Given the description of an element on the screen output the (x, y) to click on. 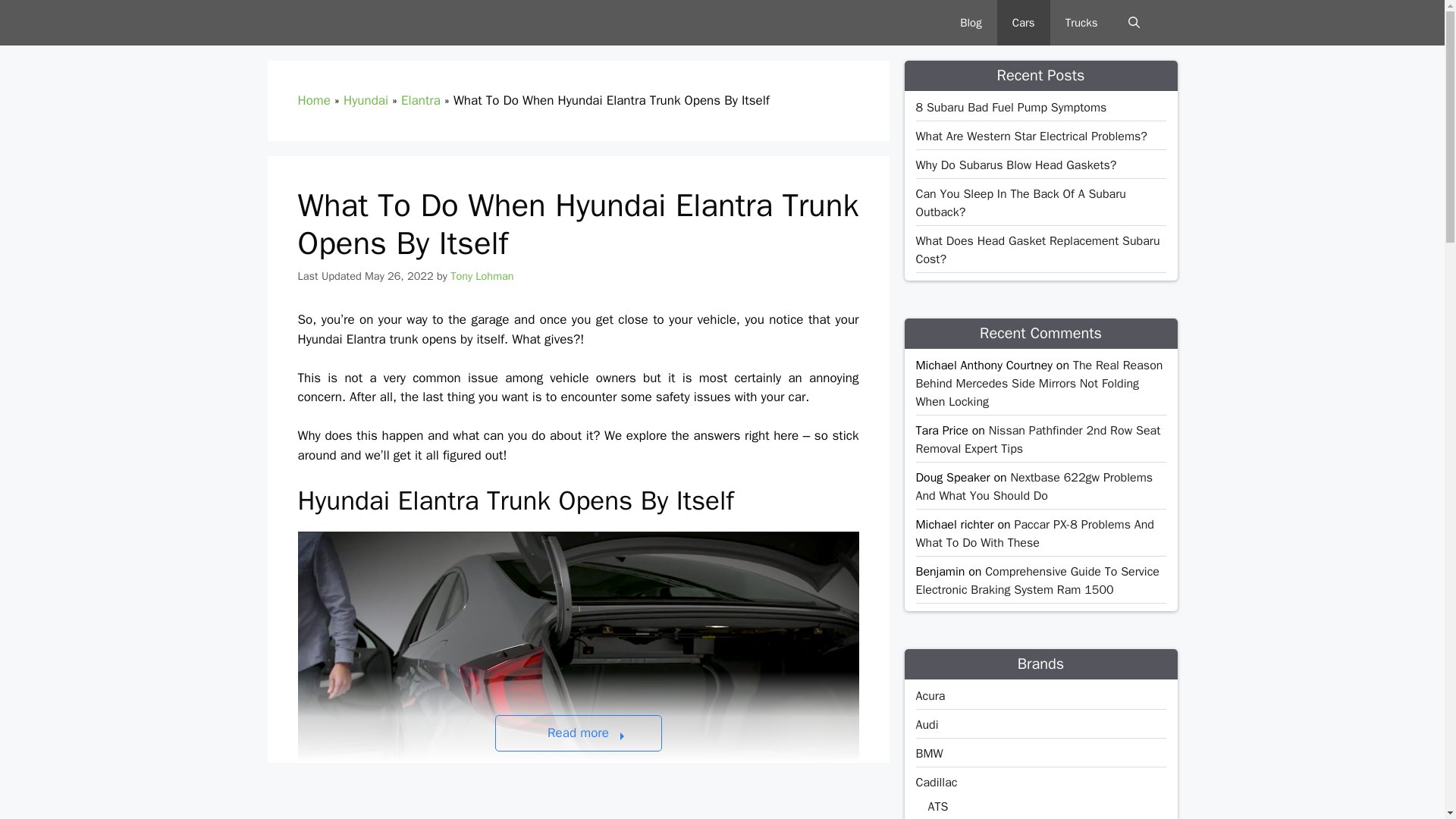
Paccar PX-8 Problems And What To Do With These (1034, 533)
Cadillac (936, 782)
Read more (578, 732)
ATS (938, 806)
The Auto Insider (331, 22)
Home (313, 100)
BMW (929, 753)
Why Do Subarus Blow Head Gaskets? (1015, 165)
Elantra (421, 100)
